Given the description of an element on the screen output the (x, y) to click on. 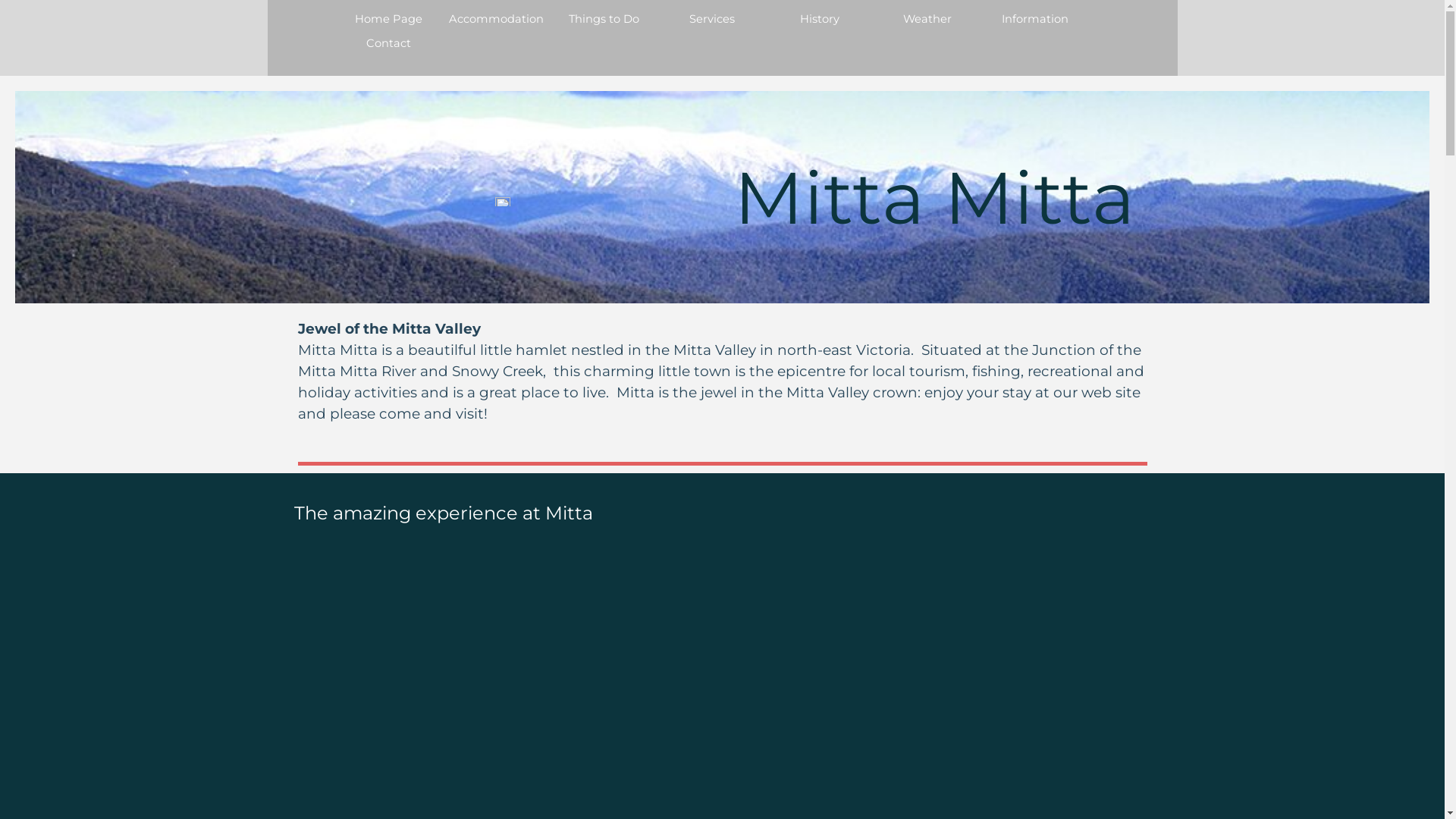
Home Page Element type: text (388, 18)
Accommodation Element type: text (496, 18)
Things to Do Element type: text (604, 18)
Services Element type: text (711, 18)
Weather Element type: text (927, 18)
History Element type: text (819, 18)
Contact Element type: text (388, 42)
Information Element type: text (1034, 18)
